Given the description of an element on the screen output the (x, y) to click on. 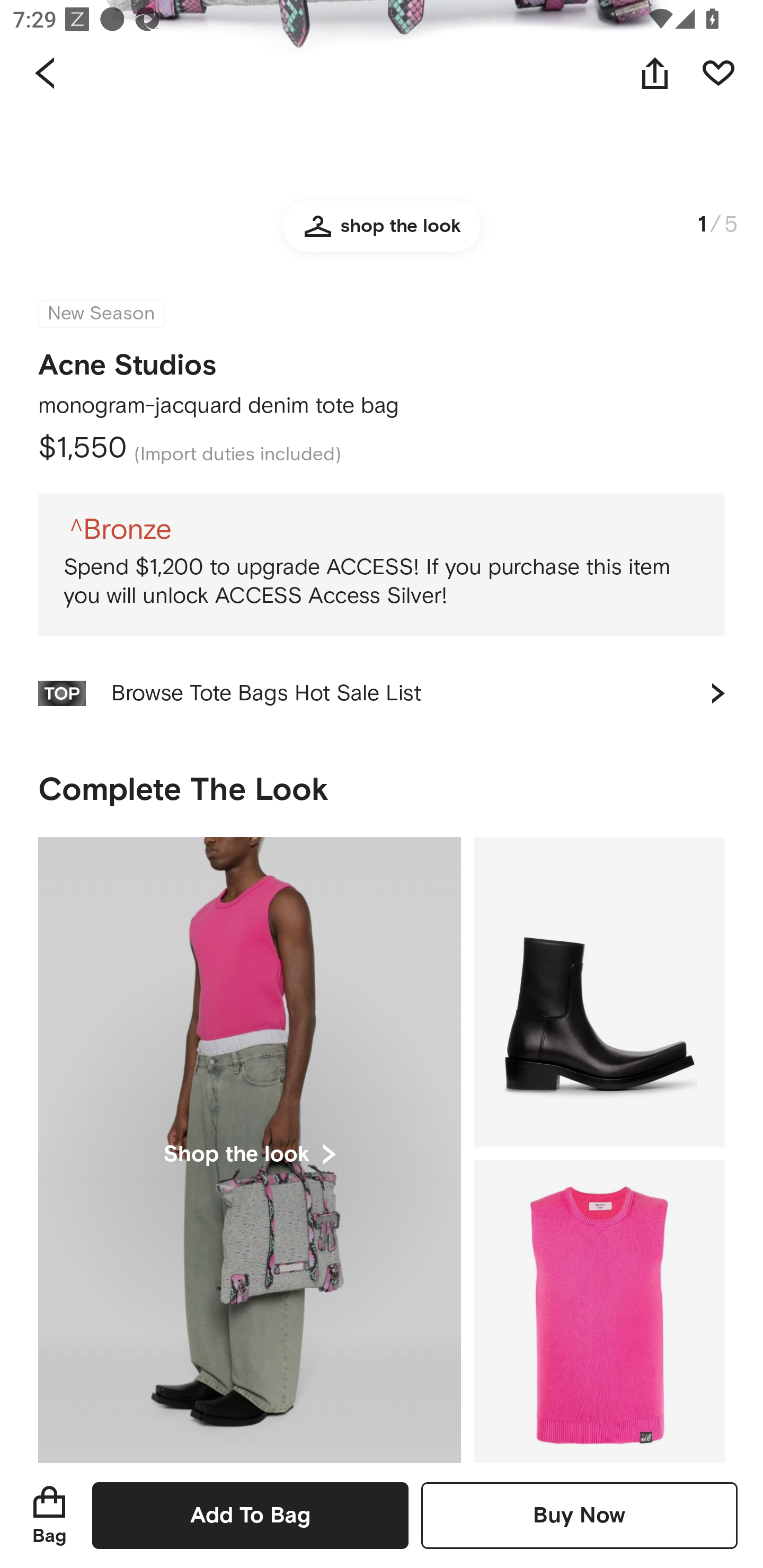
shop the look (381, 237)
Acne Studios (126, 359)
Browse Tote Bags Hot Sale List (381, 693)
Bag (49, 1515)
Add To Bag (250, 1515)
Buy Now (579, 1515)
